Given the description of an element on the screen output the (x, y) to click on. 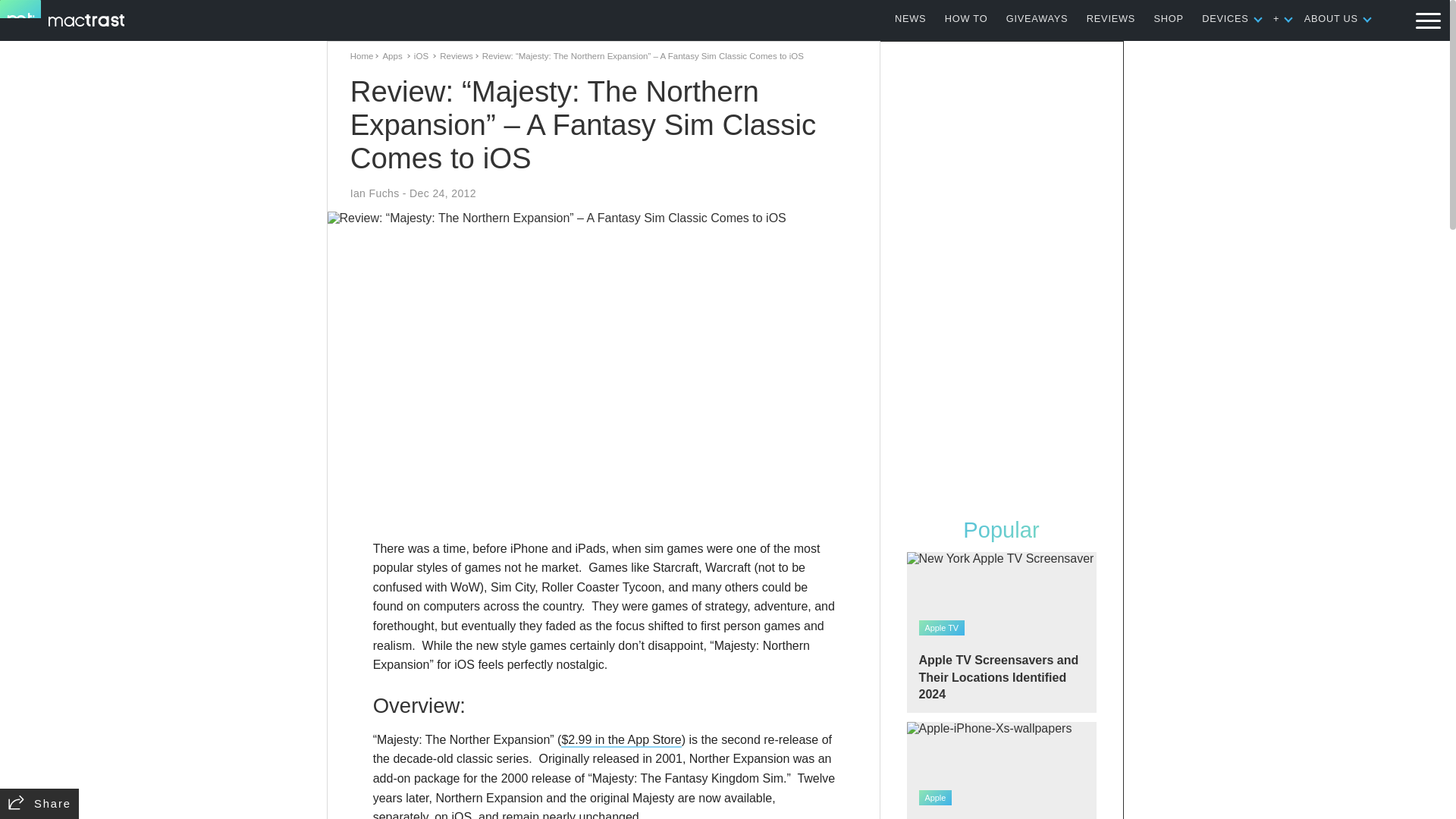
REVIEWS (1110, 18)
GIVEAWAYS (1037, 18)
DEVICES (1224, 18)
HOW TO (966, 18)
ABOUT US (1331, 18)
Majesty Northern Expansion (620, 740)
NEWS (910, 18)
SHOP (1168, 18)
Posts by Ian Fuchs (374, 193)
